Given the description of an element on the screen output the (x, y) to click on. 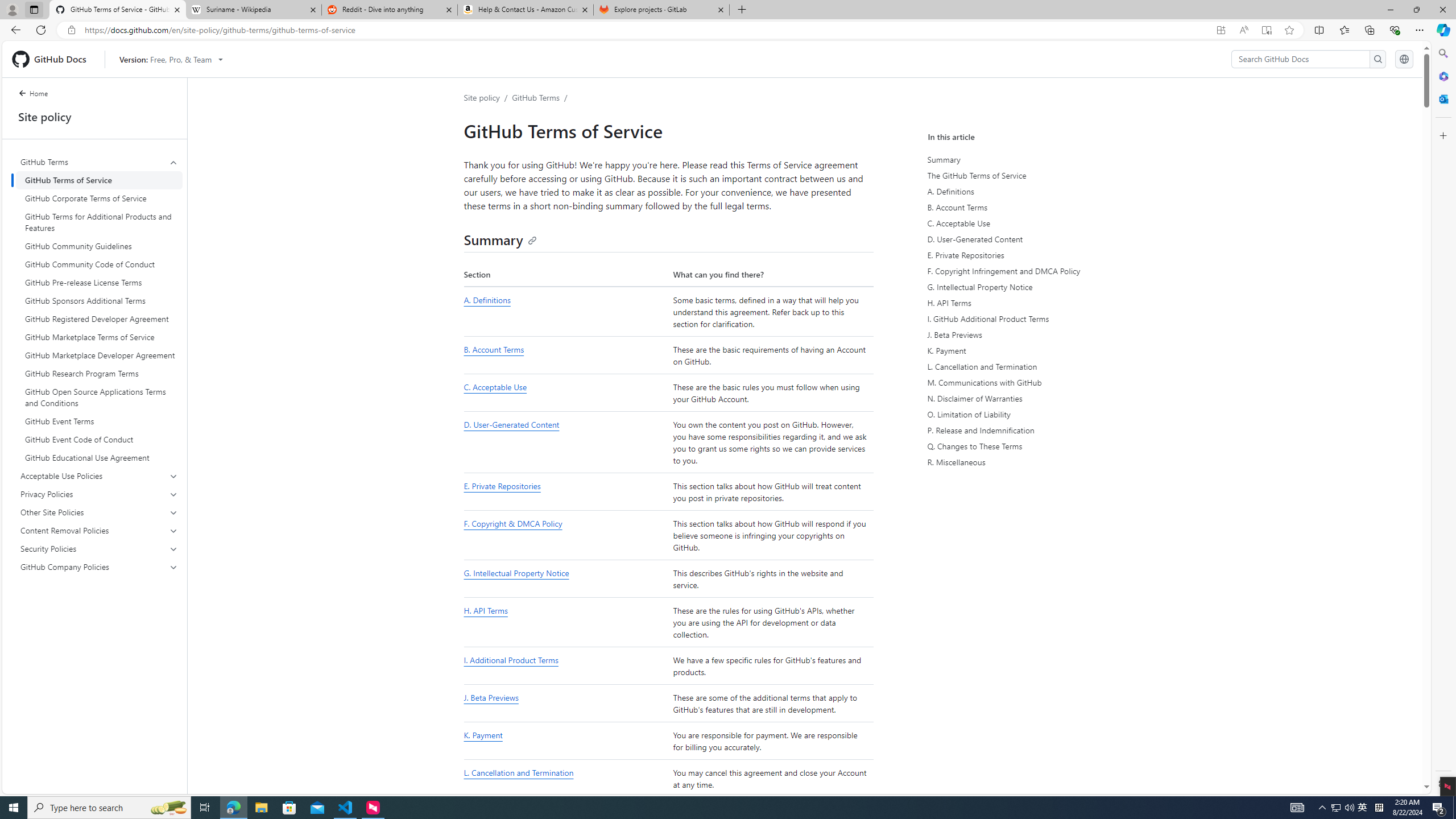
GitHub Research Program Terms (99, 373)
GitHub Sponsors Additional Terms (99, 300)
GitHub Community Code of Conduct (99, 264)
Security Policies (99, 548)
GitHub Terms (99, 162)
Privacy Policies (99, 493)
Privacy Policies (99, 493)
GitHub Open Source Applications Terms and Conditions (99, 396)
GitHub Terms of Service - GitHub Docs (117, 9)
Site policy/ (487, 97)
